Given the description of an element on the screen output the (x, y) to click on. 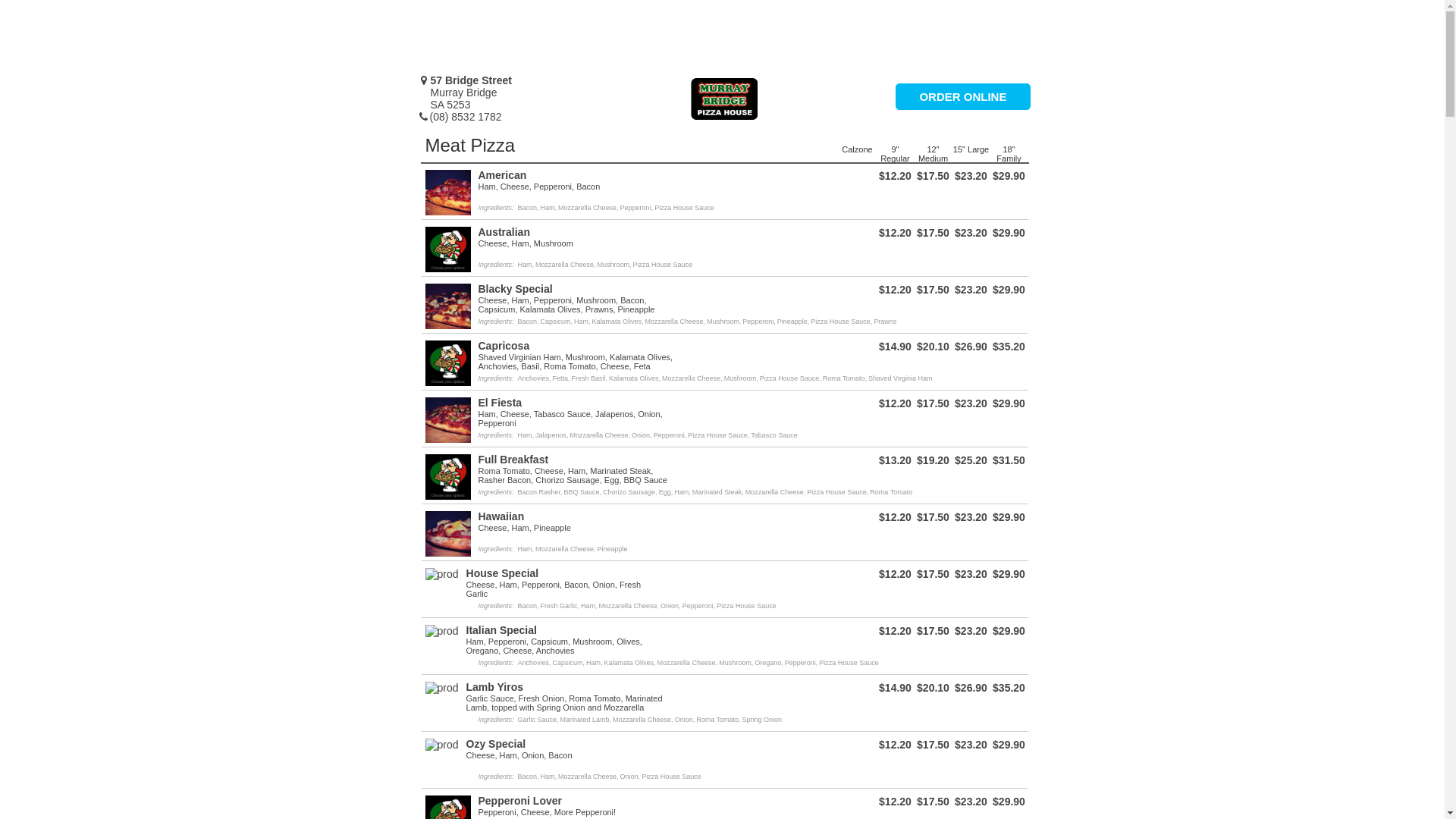
Meat Pizza Element type: text (469, 144)
ORDER ONLINE Element type: text (962, 96)
